Given the description of an element on the screen output the (x, y) to click on. 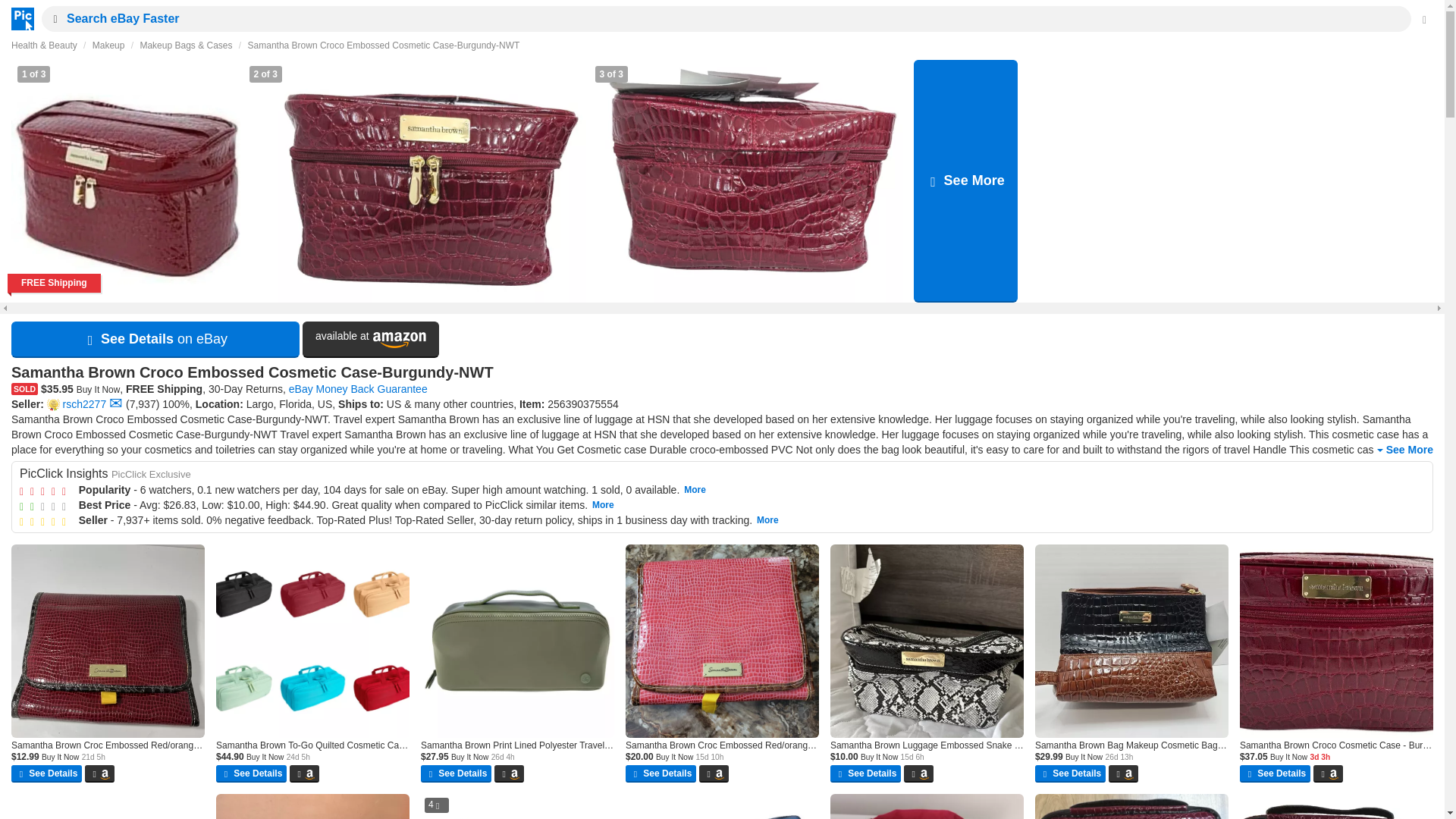
Makeup (109, 45)
available at (370, 339)
See Details on eBay (125, 180)
Search (155, 339)
See More (52, 18)
Contact Seller (1403, 450)
available at Amazon (115, 402)
eBay Item Number (370, 339)
See More (582, 404)
Samantha Brown Croco Embossed Cosmetic Case-Burgundy-NWT 3 (965, 180)
3 of 3 (750, 180)
PicClick (750, 180)
7,937 Positive Ratings (18, 18)
2 of 3 (141, 404)
